Given the description of an element on the screen output the (x, y) to click on. 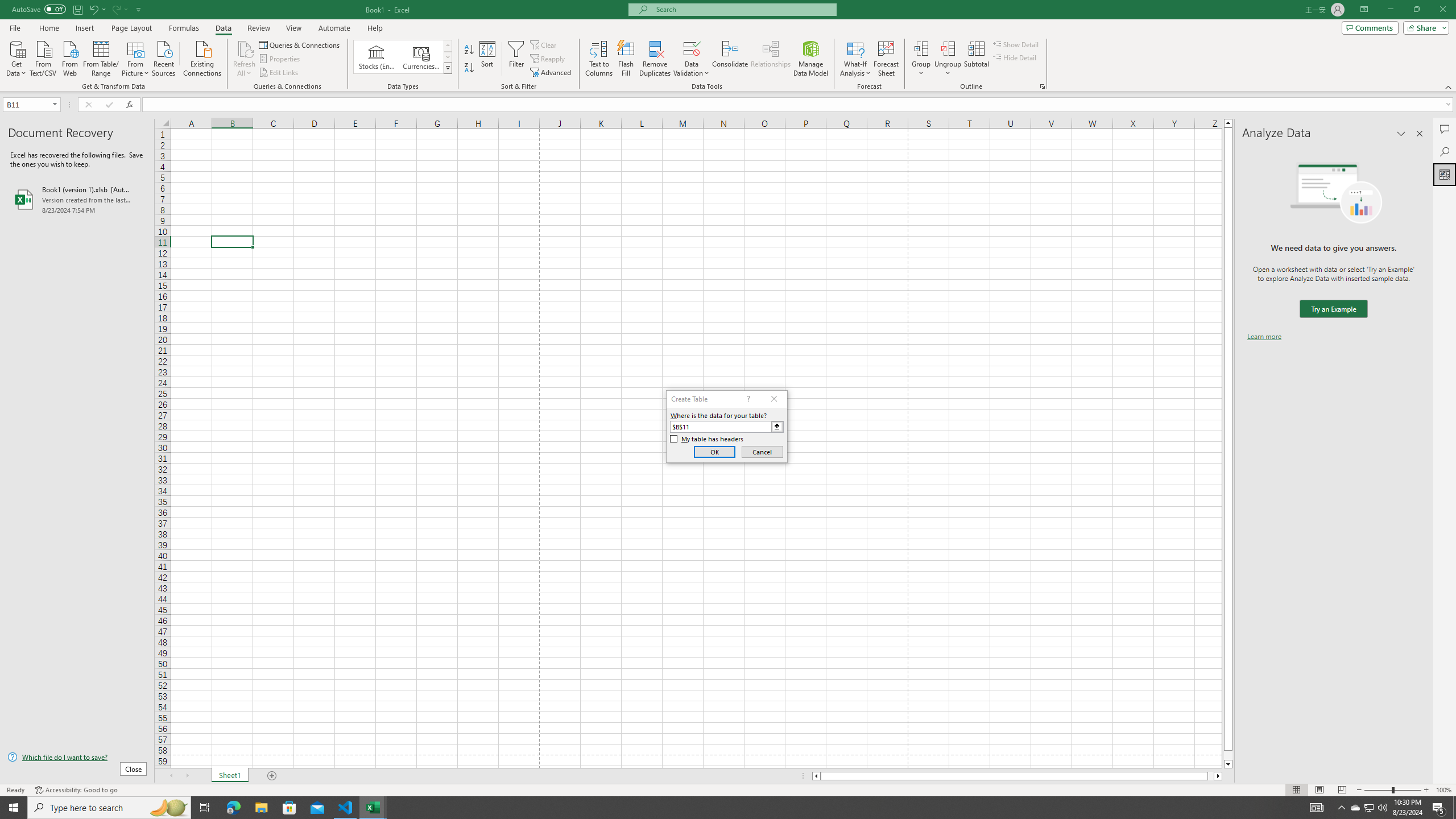
From Table/Range (100, 57)
Recent Sources (163, 57)
Reapply (548, 58)
Sort Z to A (469, 67)
Relationships (770, 58)
